Given the description of an element on the screen output the (x, y) to click on. 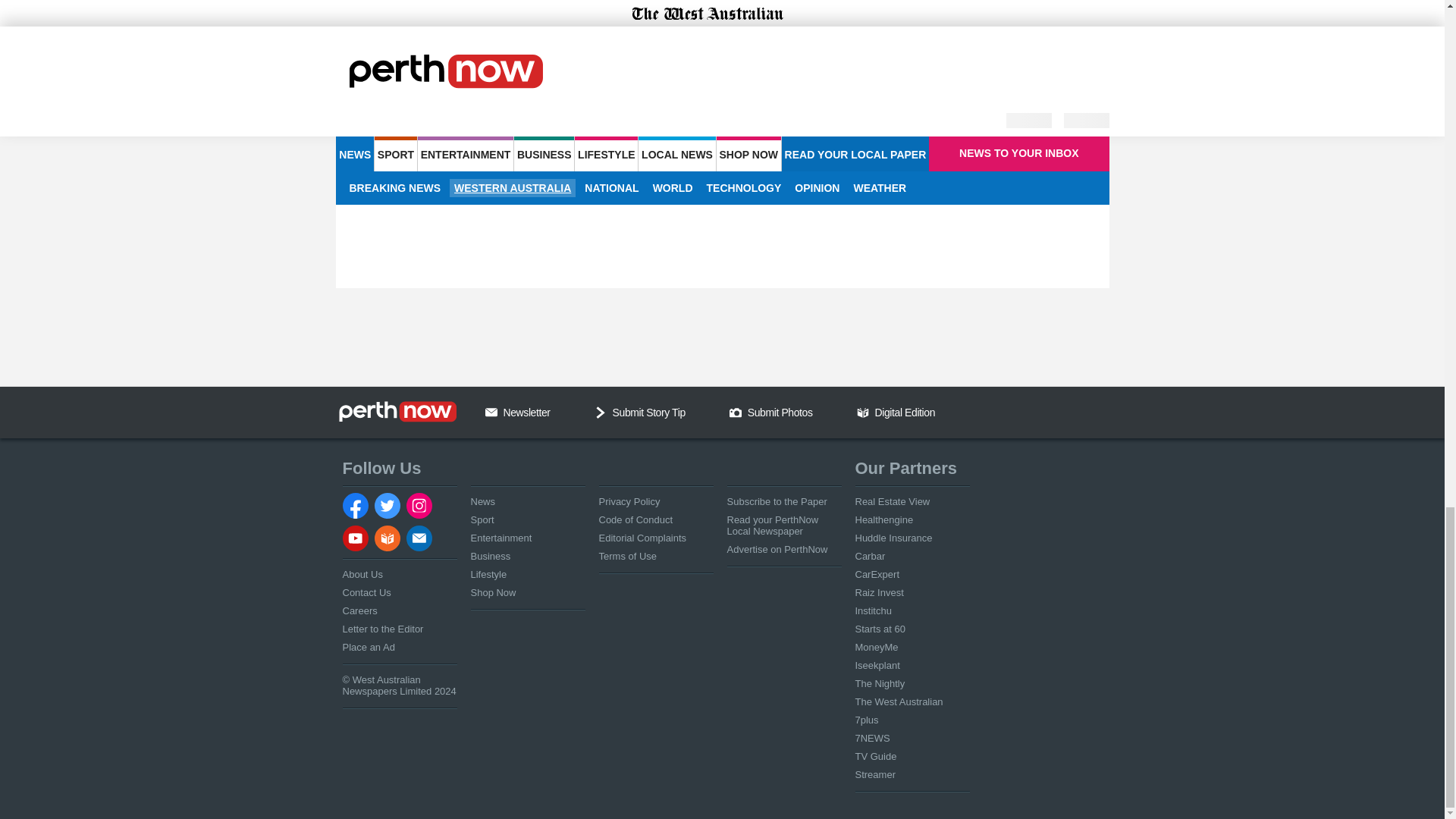
Camera Icon (735, 412)
Chevron Down Icon (600, 412)
Email Us (490, 412)
Get Digital Edition (863, 412)
